Given the description of an element on the screen output the (x, y) to click on. 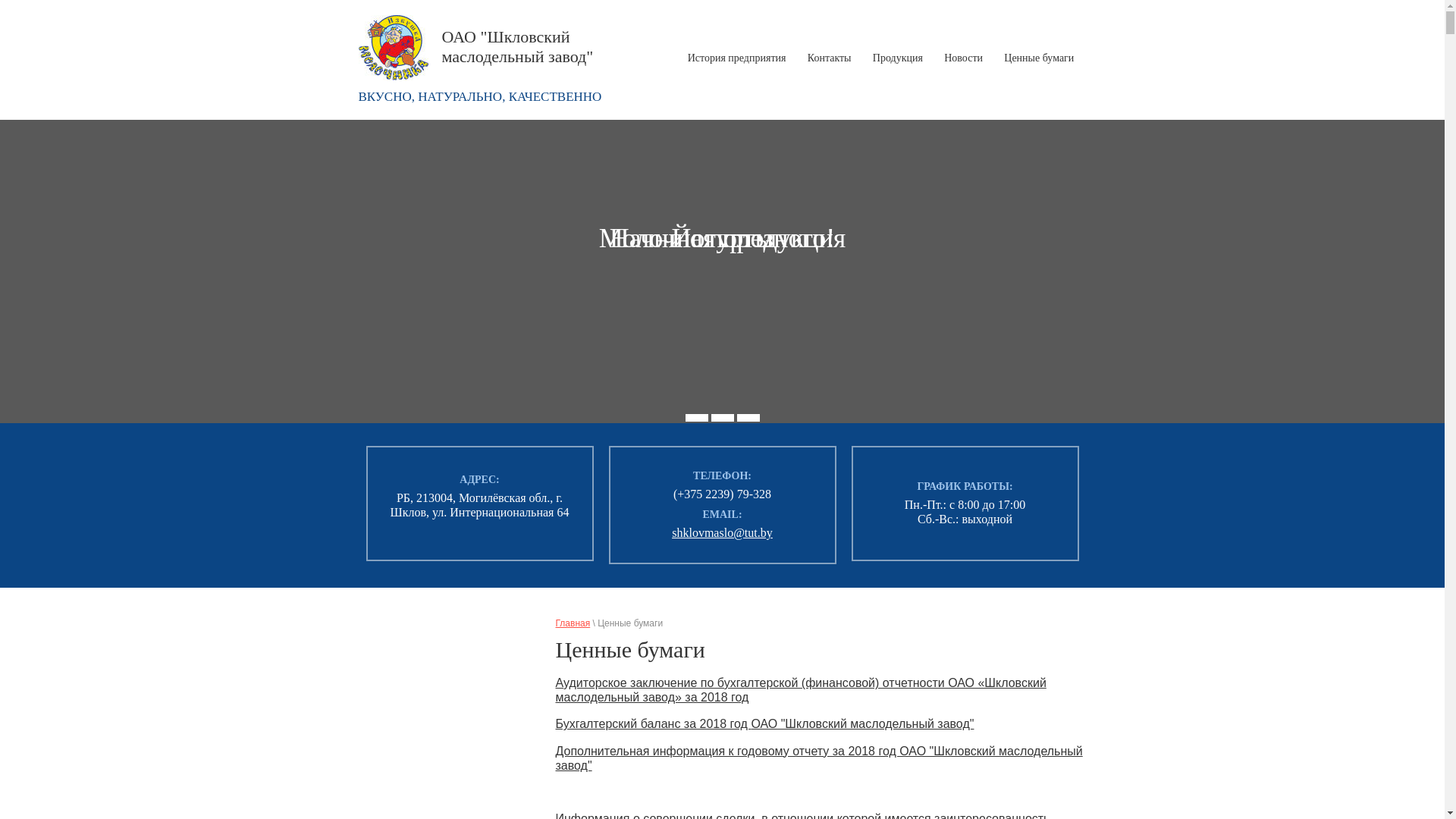
(+375 2239) 79-328 Element type: text (722, 493)
shklovmaslo@tut.by Element type: text (721, 532)
